Given the description of an element on the screen output the (x, y) to click on. 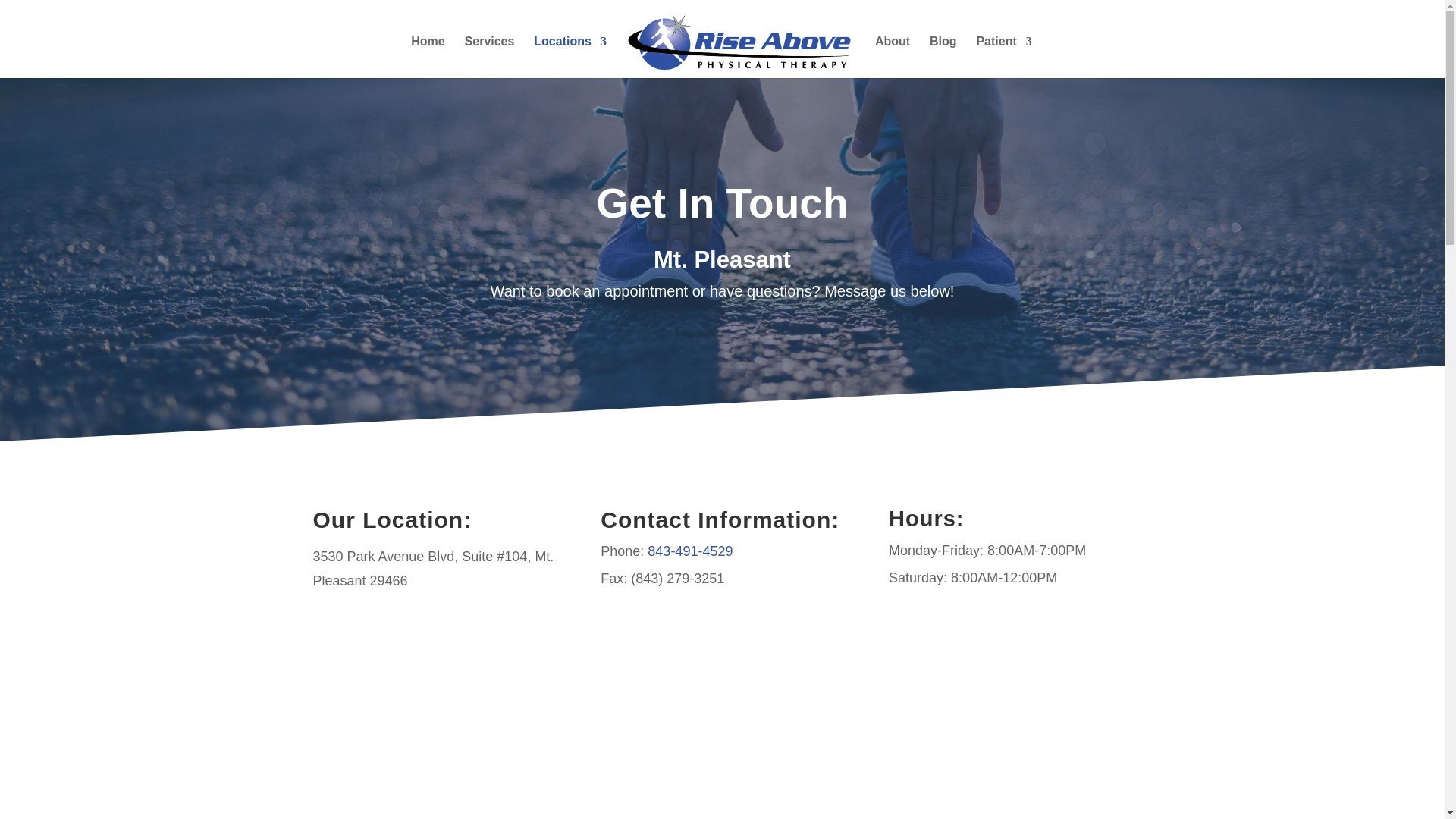
Locations (570, 56)
Patient (1002, 56)
Services (489, 56)
843-491-4529 (689, 550)
